Given the description of an element on the screen output the (x, y) to click on. 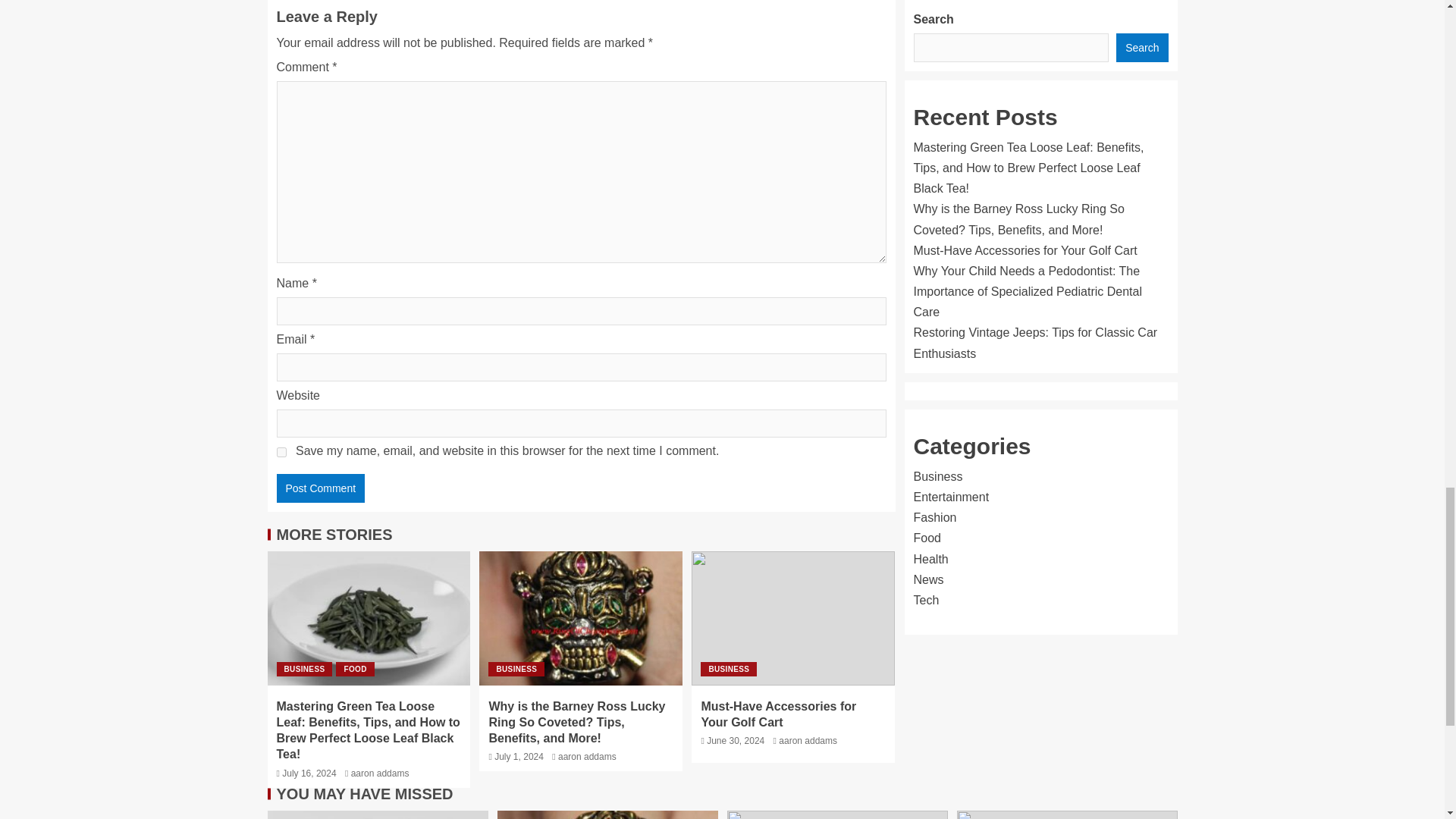
yes (280, 452)
Post Comment (320, 488)
BUSINESS (515, 668)
Post Comment (320, 488)
aaron addams (379, 773)
BUSINESS (303, 668)
aaron addams (586, 756)
BUSINESS (728, 668)
FOOD (355, 668)
